Given the description of an element on the screen output the (x, y) to click on. 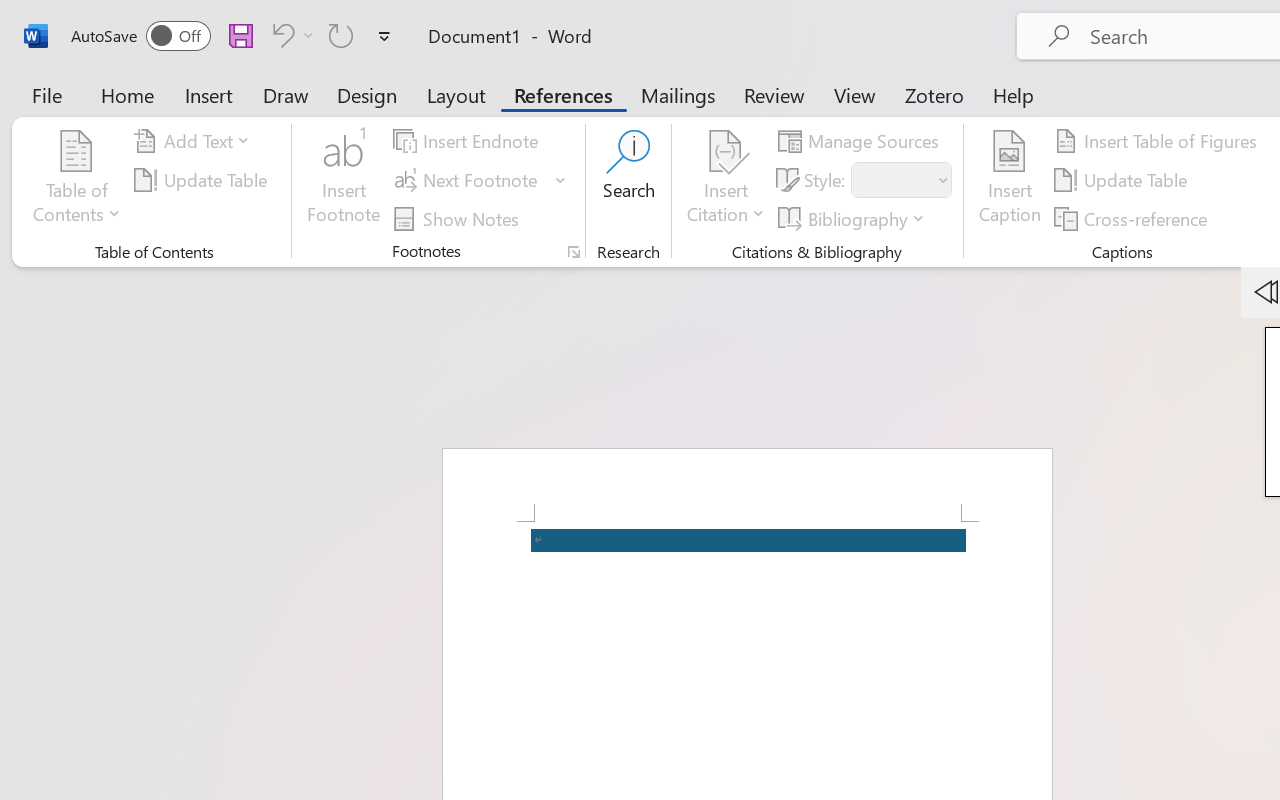
Reload (93, 69)
V&A (594, 183)
Back (19, 69)
Privaatheid en bepalings (175, 134)
Voer jou inligting in of vee dit uit (152, 557)
New Tab (394, 22)
Search tabs (20, 22)
Jou privaatheidkontroles (152, 399)
Privaatheidsbeleid (173, 185)
New Tab (1244, 22)
Google News (156, 22)
